Given the description of an element on the screen output the (x, y) to click on. 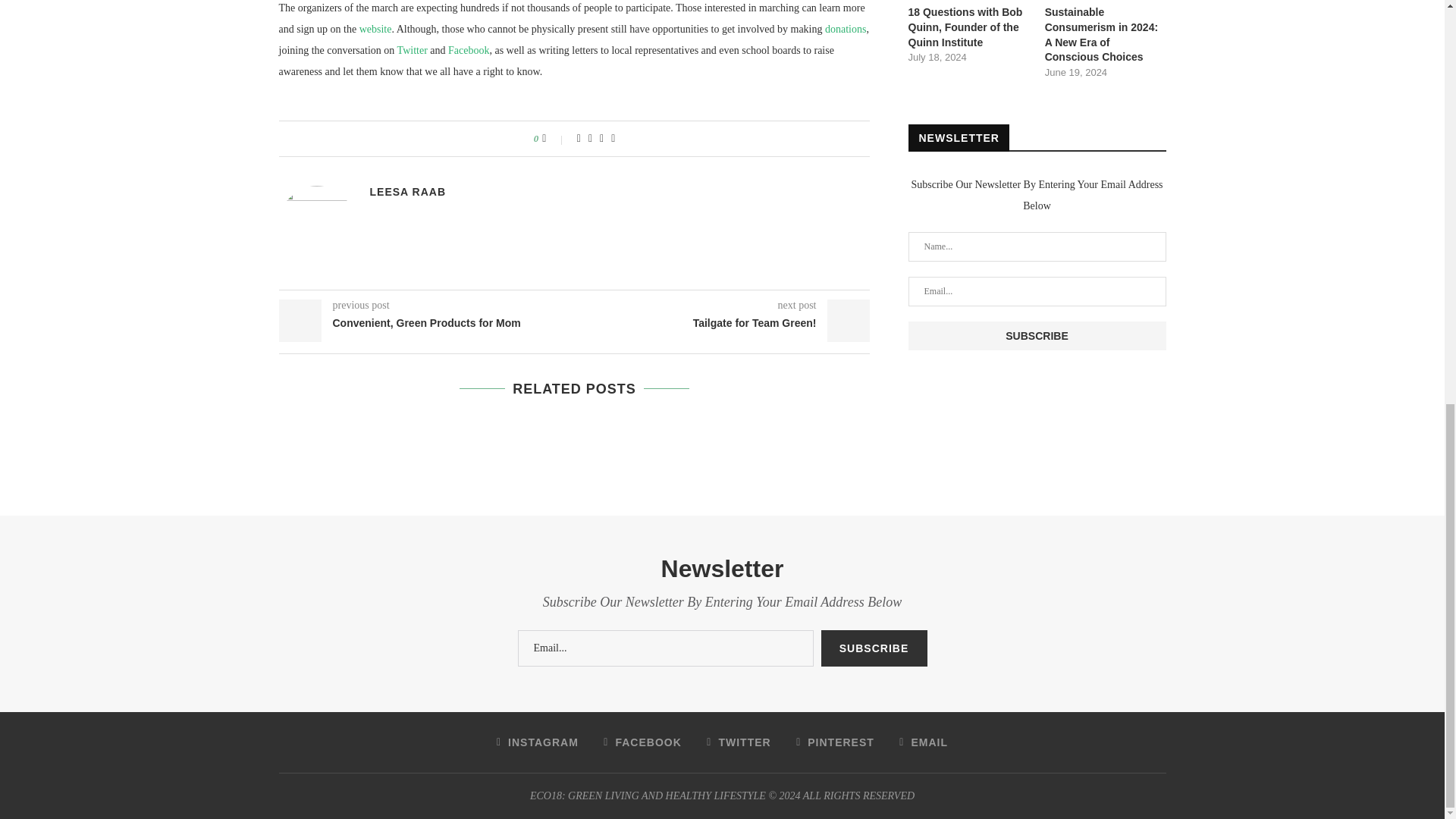
Like (553, 138)
website (375, 29)
Subscribe (873, 647)
Subscribe (1037, 335)
Posts by Leesa Raab (407, 191)
donations (845, 29)
